Given the description of an element on the screen output the (x, y) to click on. 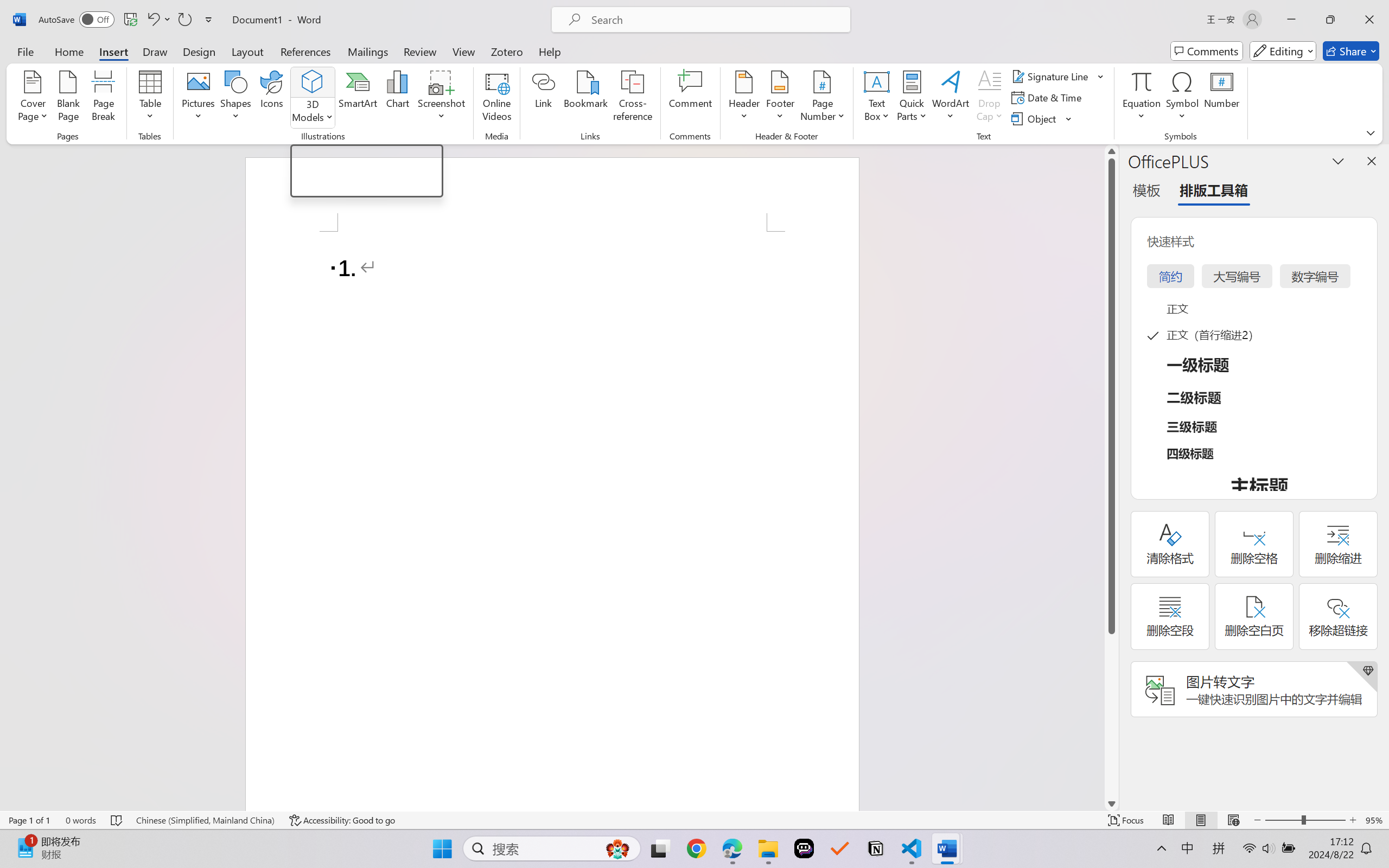
Undo Number Default (152, 19)
3D Models (312, 97)
Signature Line (1051, 75)
Link (543, 97)
Cover Page (33, 97)
Repeat Doc Close (184, 19)
